Given the description of an element on the screen output the (x, y) to click on. 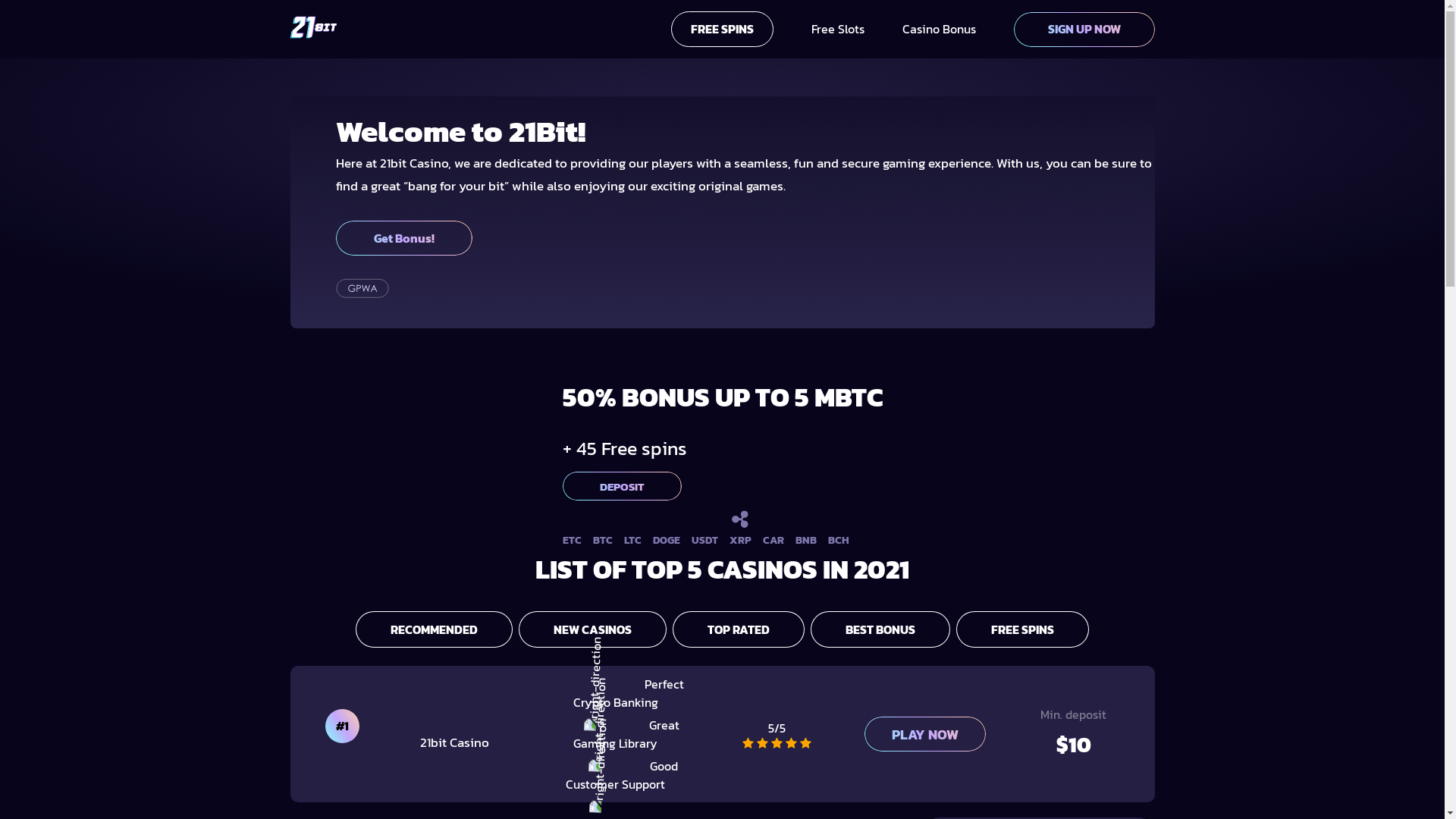
Casino Bonus Element type: text (938, 29)
Free Slots Element type: text (837, 29)
SIGN UP NOW Element type: text (1083, 29)
PLAY NOW Element type: text (924, 733)
Get Bonus! Element type: text (403, 237)
FREE SPINS Element type: text (721, 29)
DEPOSIT Element type: text (621, 485)
Get Bonus! Element type: text (744, 237)
